Given the description of an element on the screen output the (x, y) to click on. 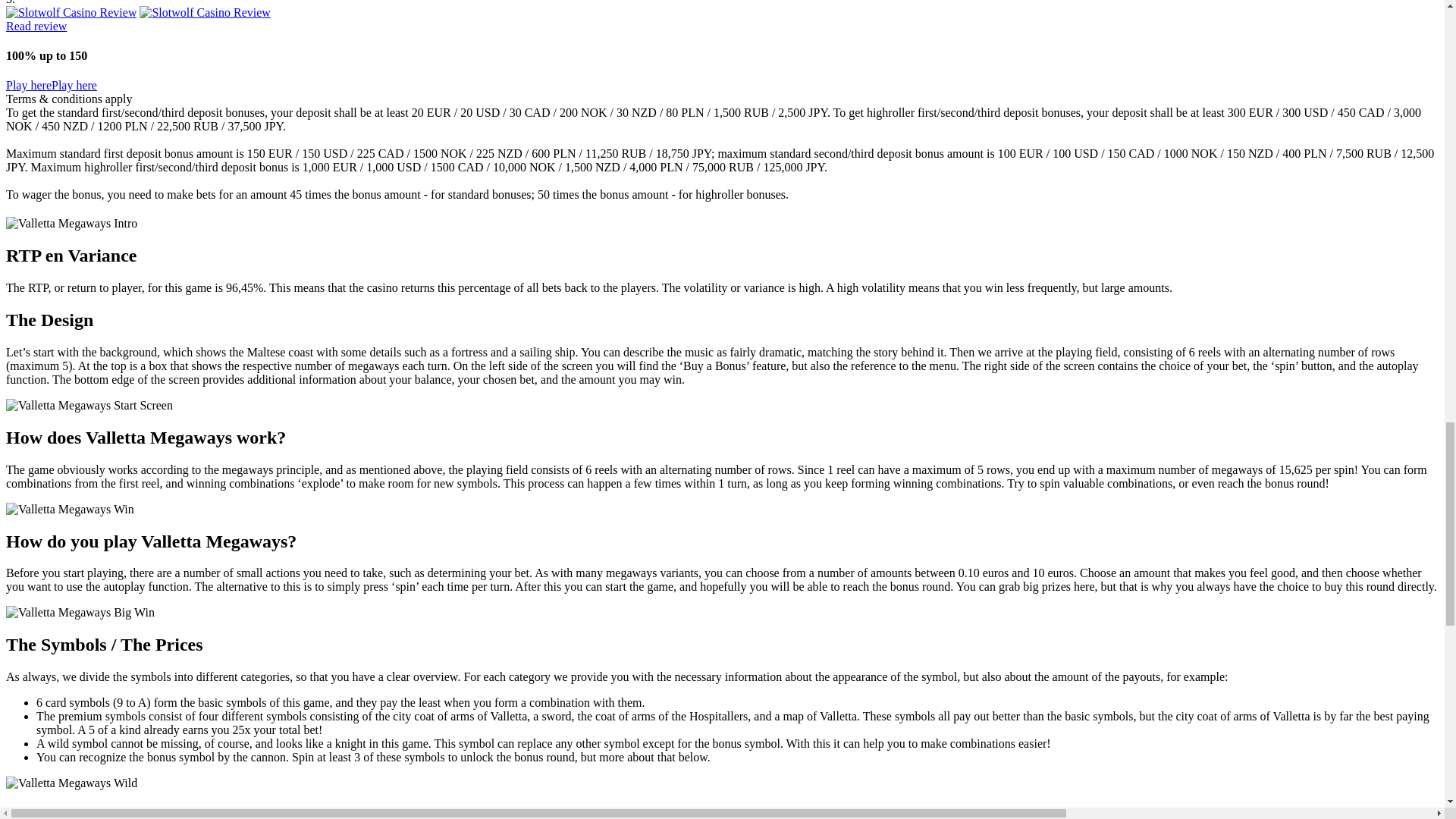
Read review (35, 25)
Play here (27, 84)
Play here (73, 84)
